Given the description of an element on the screen output the (x, y) to click on. 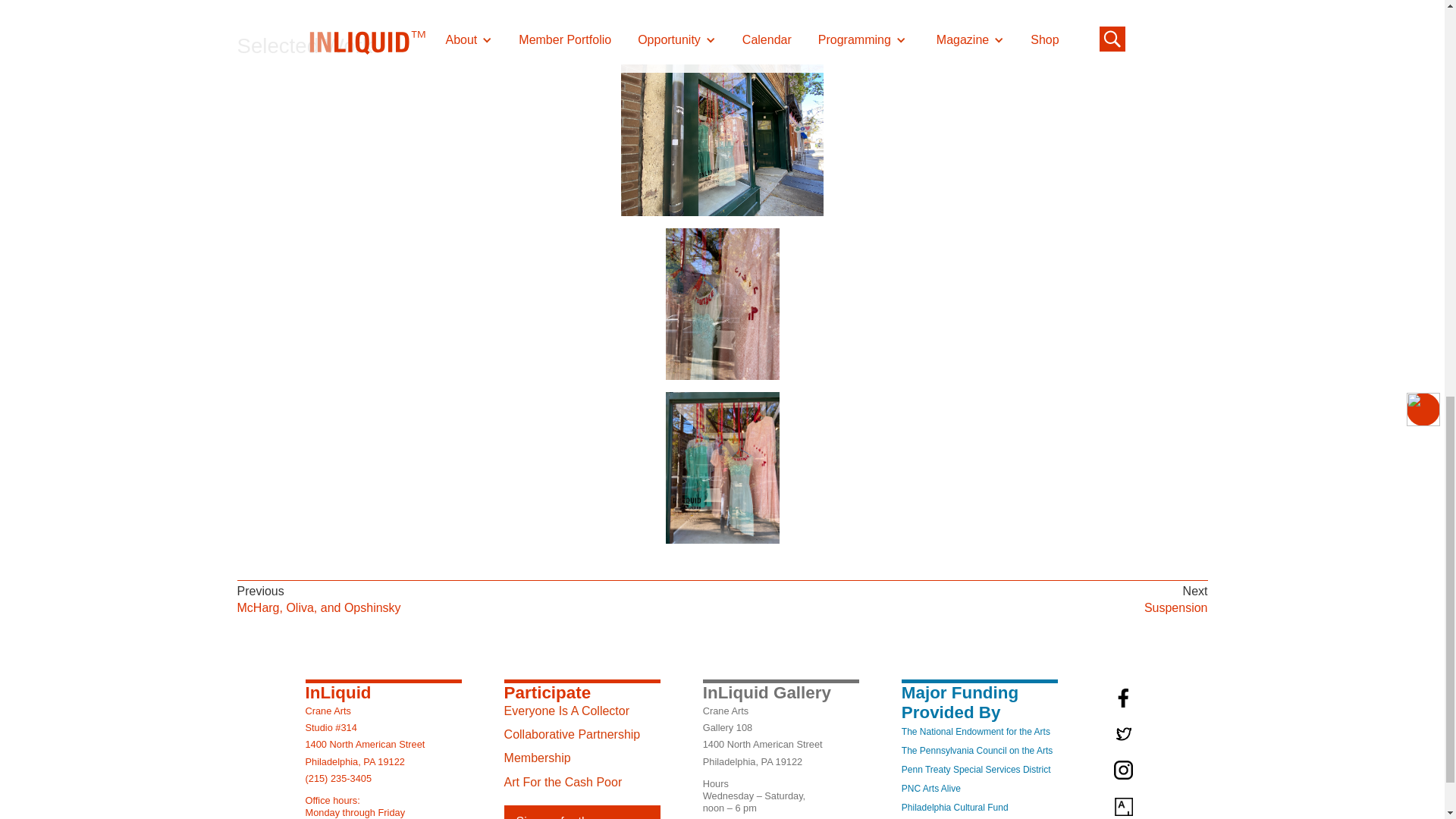
Suspension (1176, 607)
McHarg, Oliva, and Opshinsky (317, 607)
